Given the description of an element on the screen output the (x, y) to click on. 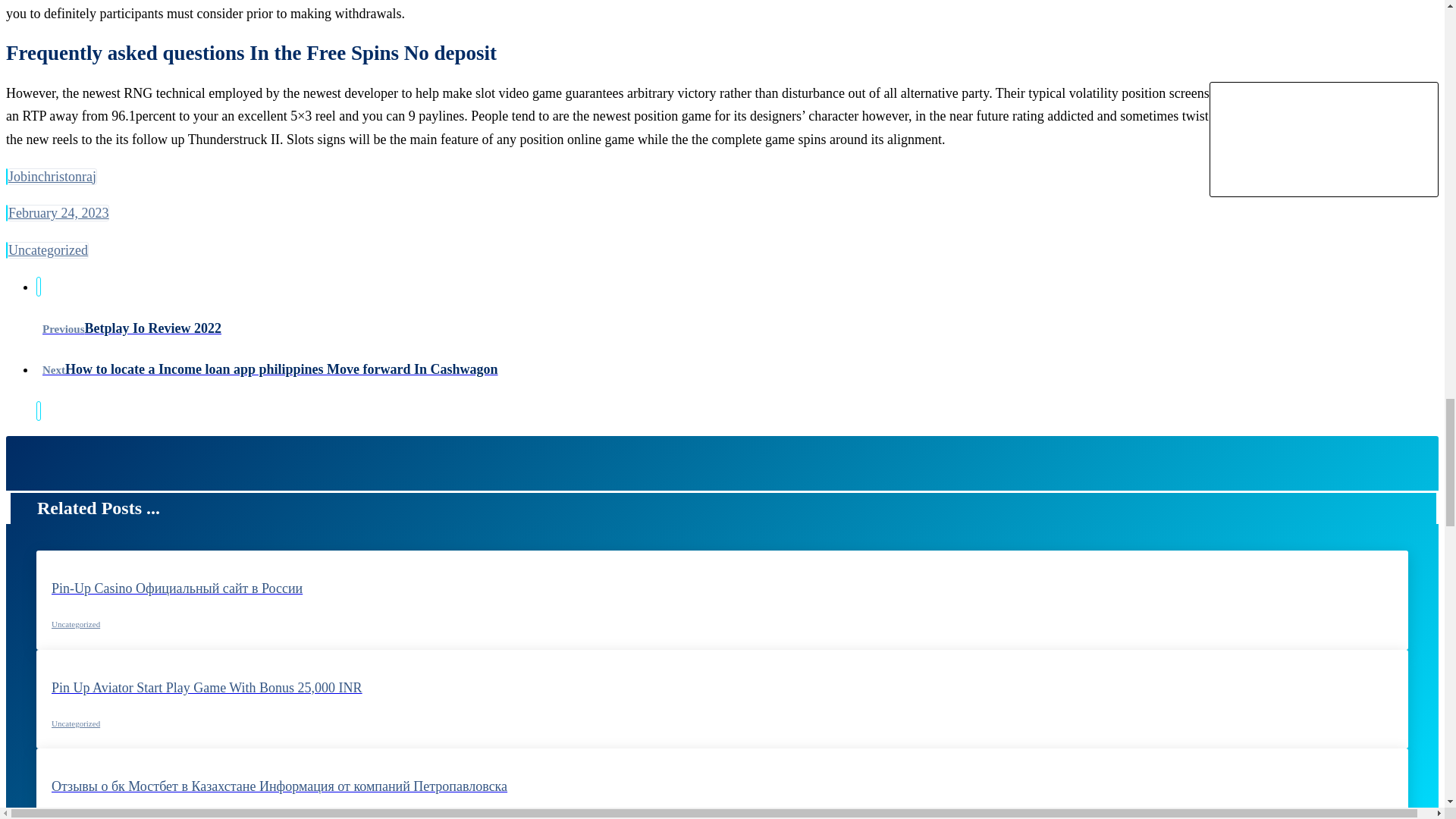
Uncategorized (75, 723)
February 24, 2023 (58, 212)
Pin Up Aviator Start Play Game With Bonus 25,000 INR (721, 703)
PreviousBetplay Io Review 2022 (737, 309)
Jobinchristonraj (52, 176)
Uncategorized (47, 249)
Uncategorized (75, 623)
